Given the description of an element on the screen output the (x, y) to click on. 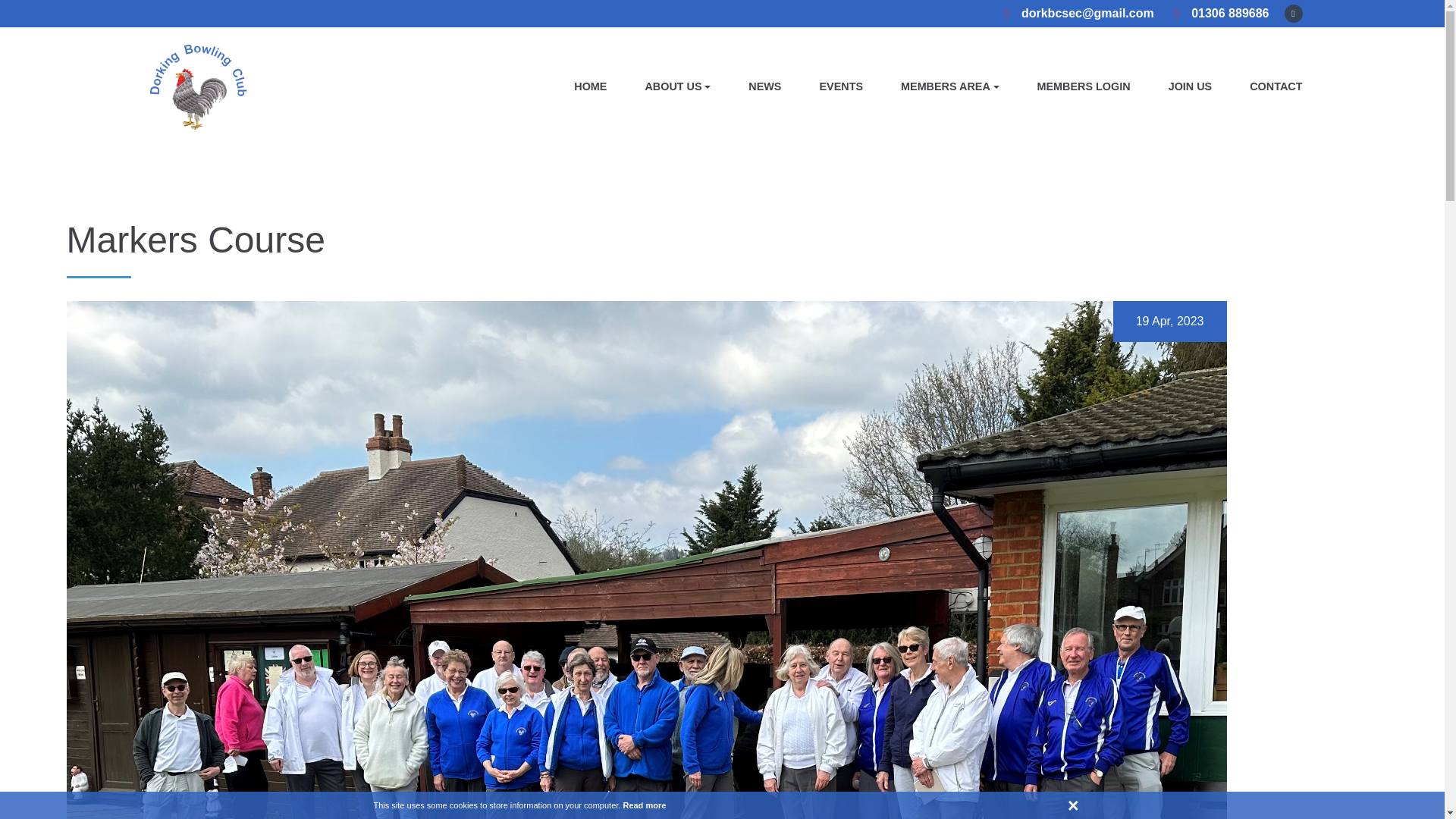
EVENTS (840, 87)
HOME (590, 87)
MEMBERS LOGIN (1083, 87)
NEWS (764, 87)
ABOUT US (677, 87)
JOIN US (1190, 87)
MEMBERS AREA (949, 87)
01306 889686 (1219, 13)
CONTACT (1275, 87)
